Given the description of an element on the screen output the (x, y) to click on. 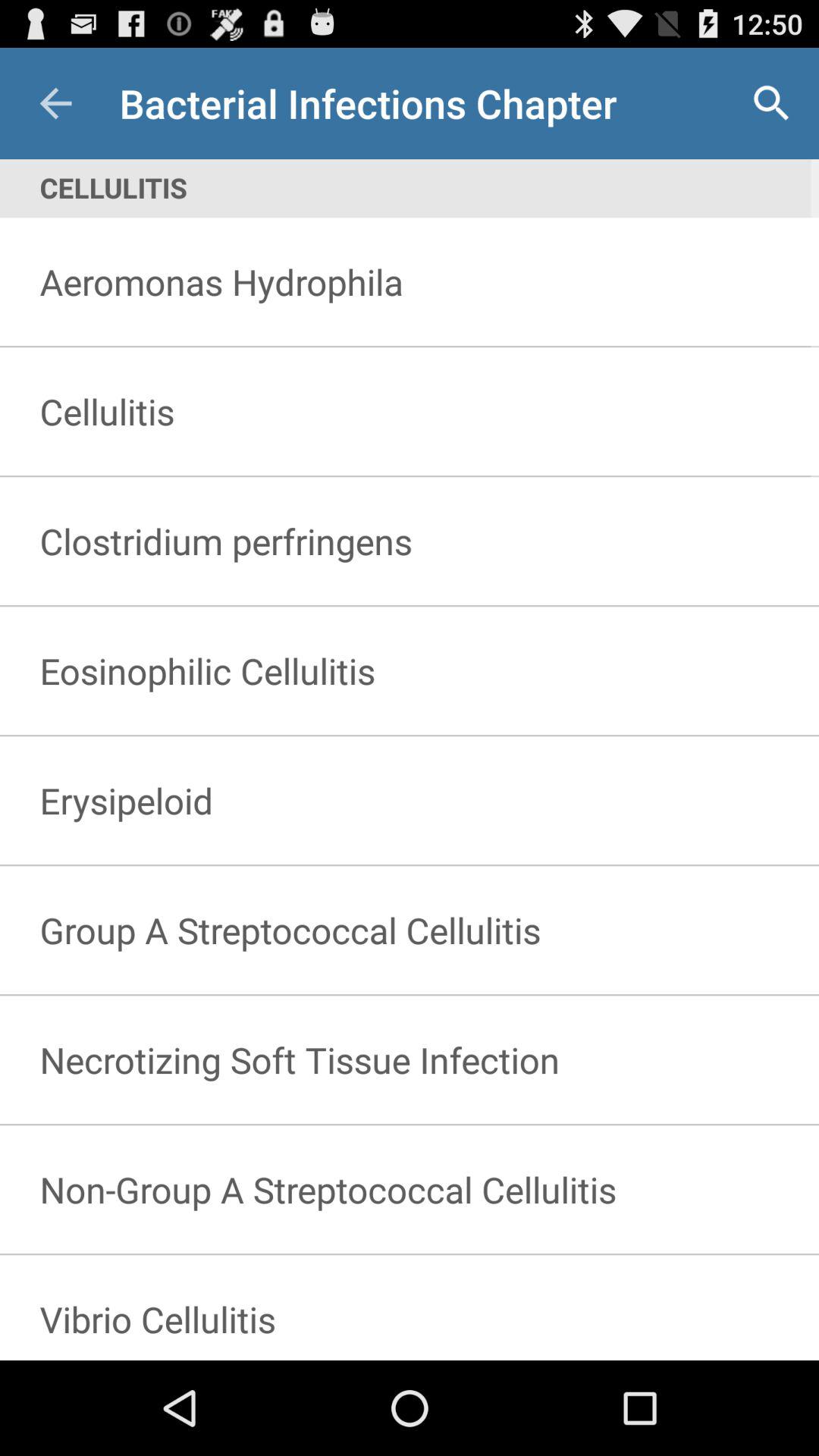
press the icon at the top left corner (55, 103)
